Given the description of an element on the screen output the (x, y) to click on. 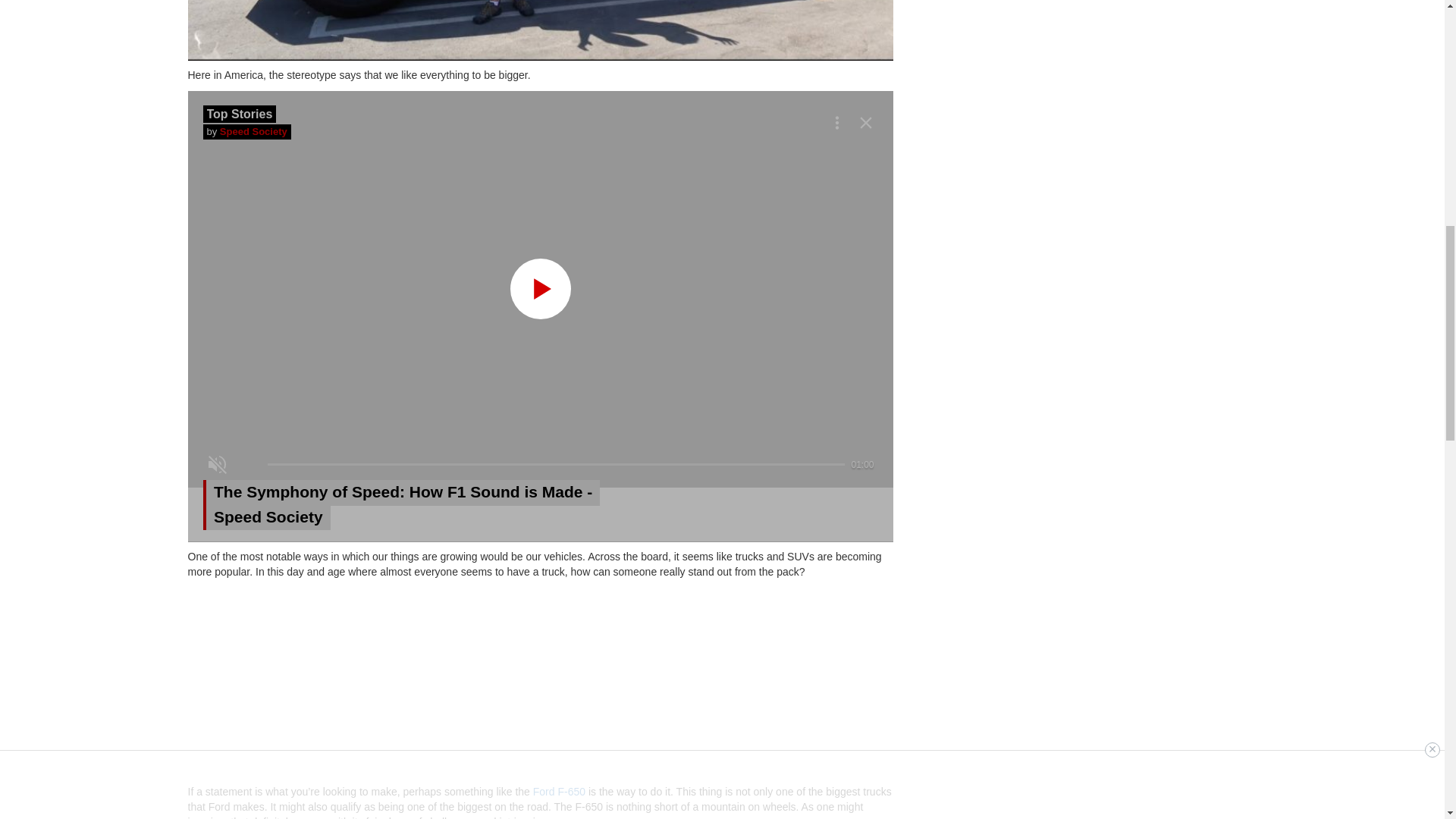
Ford F-650 (558, 791)
The Symphony of Speed: How F1 Sound is Made - Speed Society (410, 504)
